Given the description of an element on the screen output the (x, y) to click on. 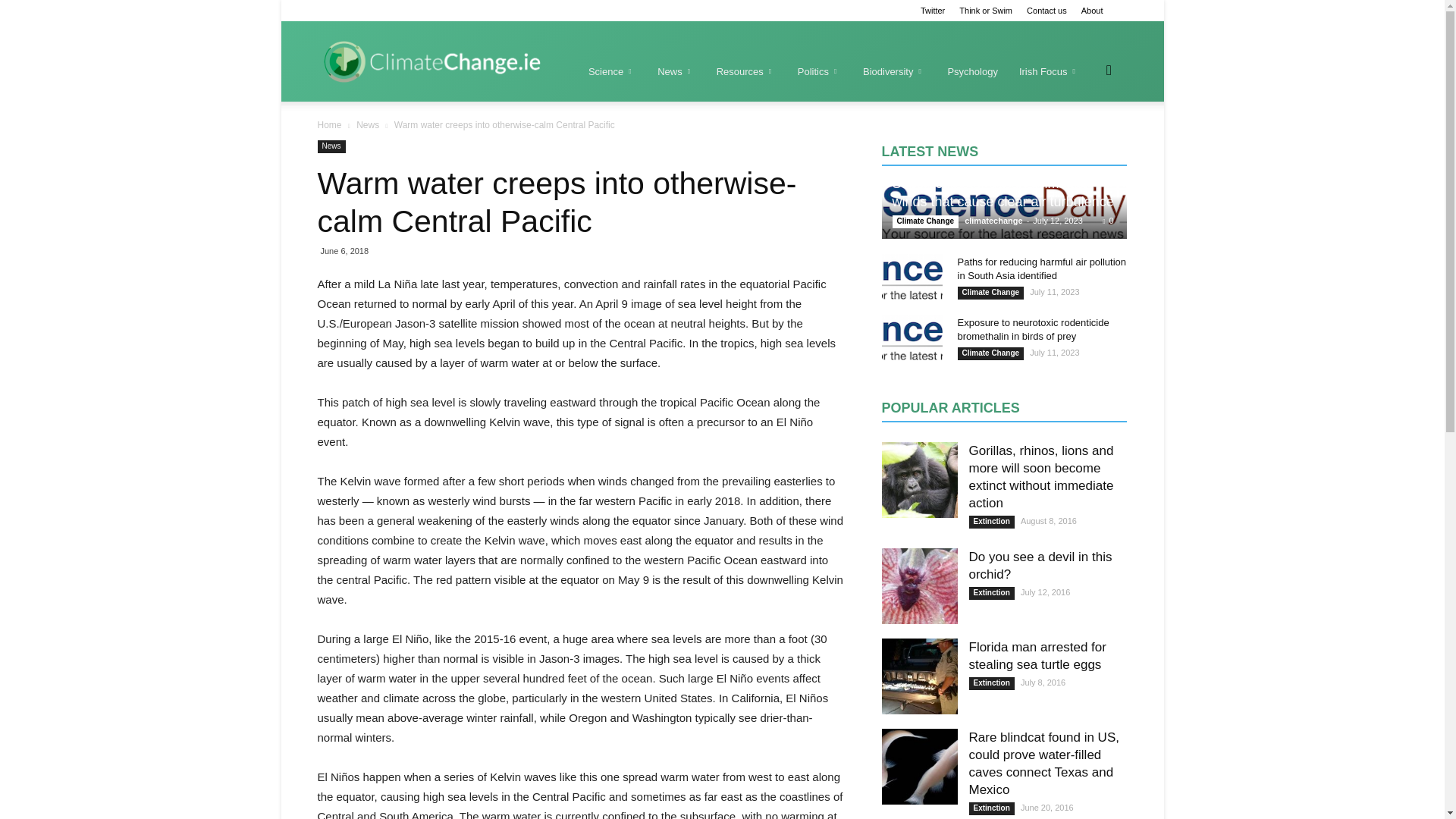
View all posts in News (368, 124)
Climate change Ireland (430, 61)
